Given the description of an element on the screen output the (x, y) to click on. 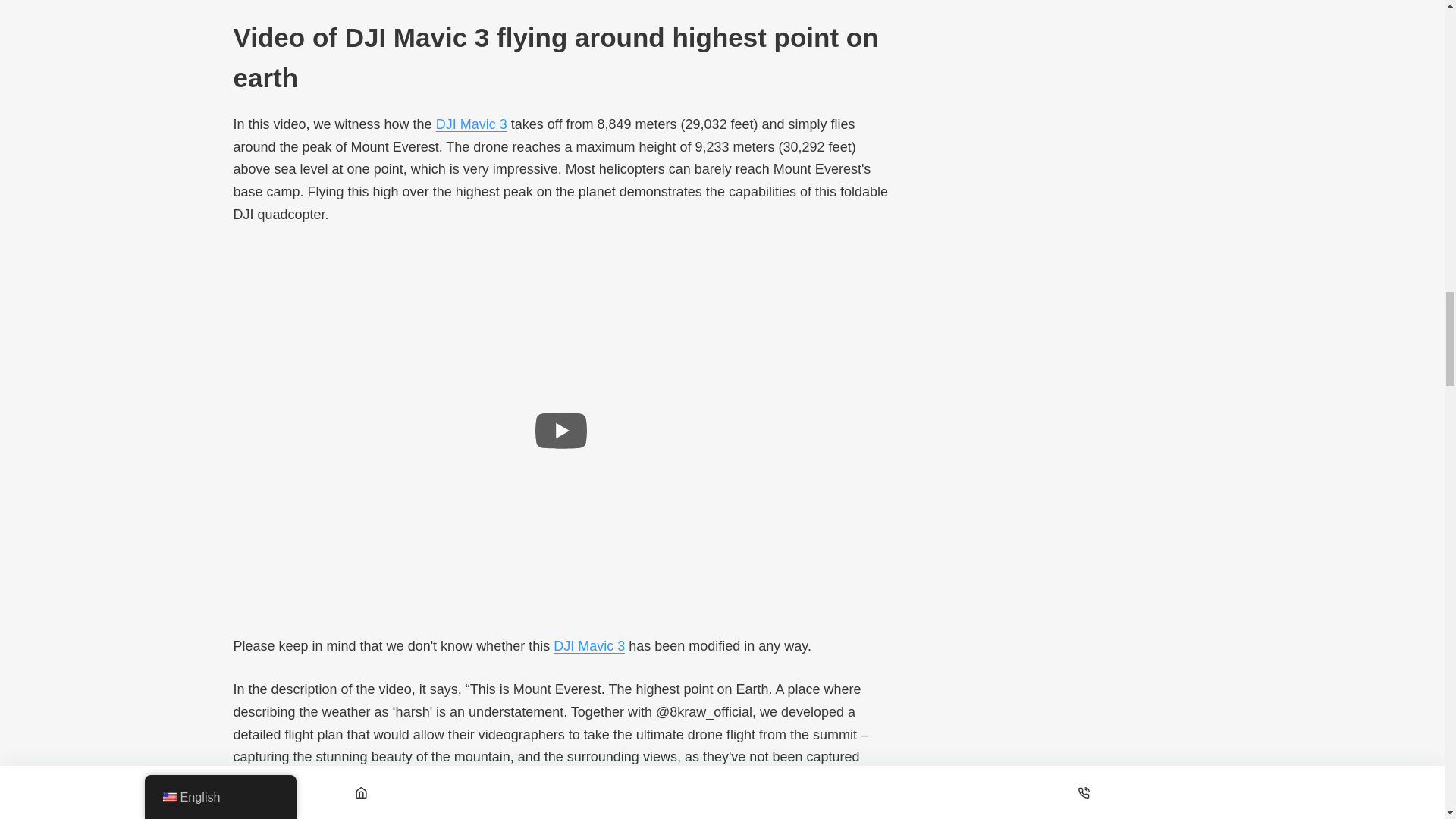
DJI Mavic 3 (470, 124)
Posts in the category Drone Video (353, 816)
DJI Mavic 3 (588, 645)
